Given the description of an element on the screen output the (x, y) to click on. 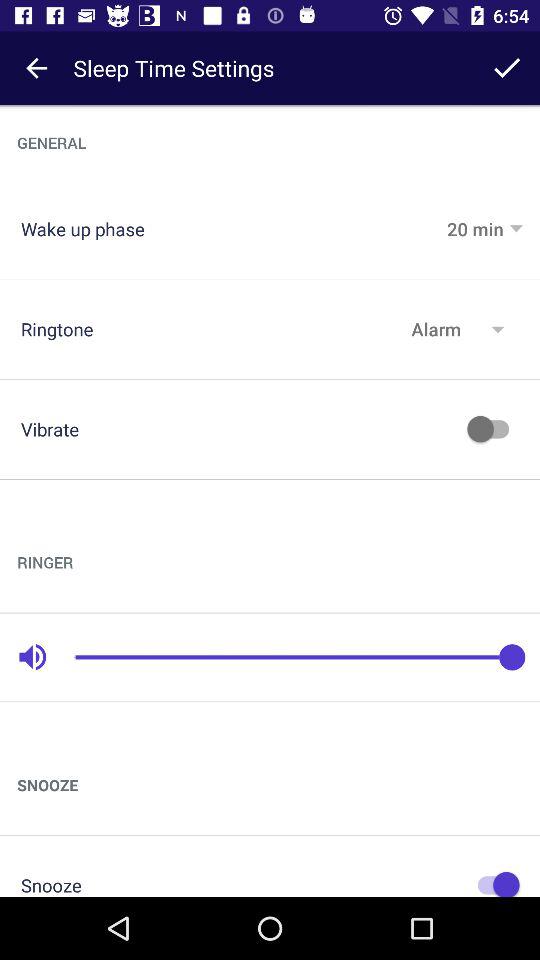
hide button (493, 882)
